Given the description of an element on the screen output the (x, y) to click on. 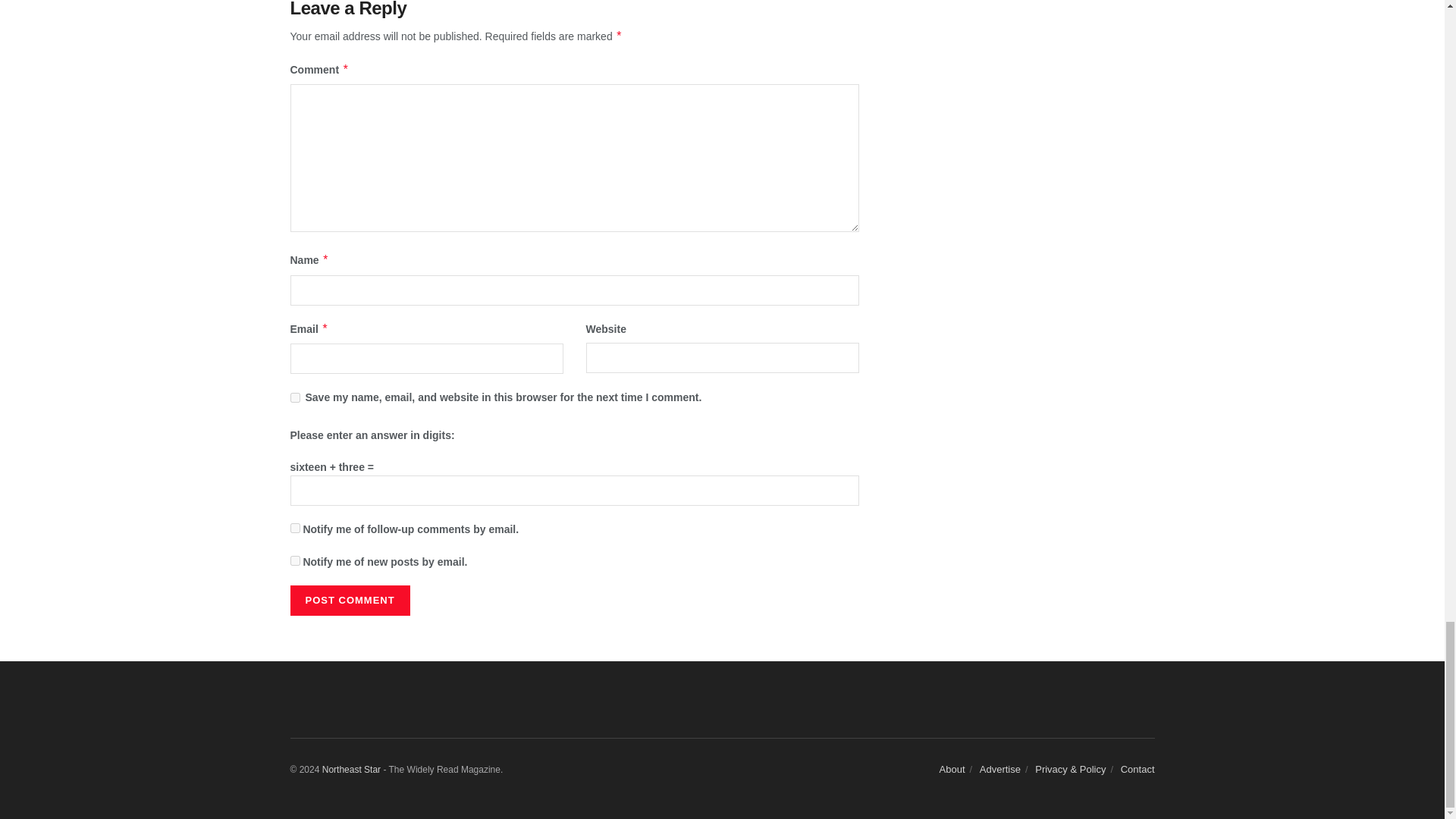
subscribe (294, 560)
yes (294, 397)
Northest Star (350, 769)
Post Comment (349, 600)
subscribe (294, 528)
